Given the description of an element on the screen output the (x, y) to click on. 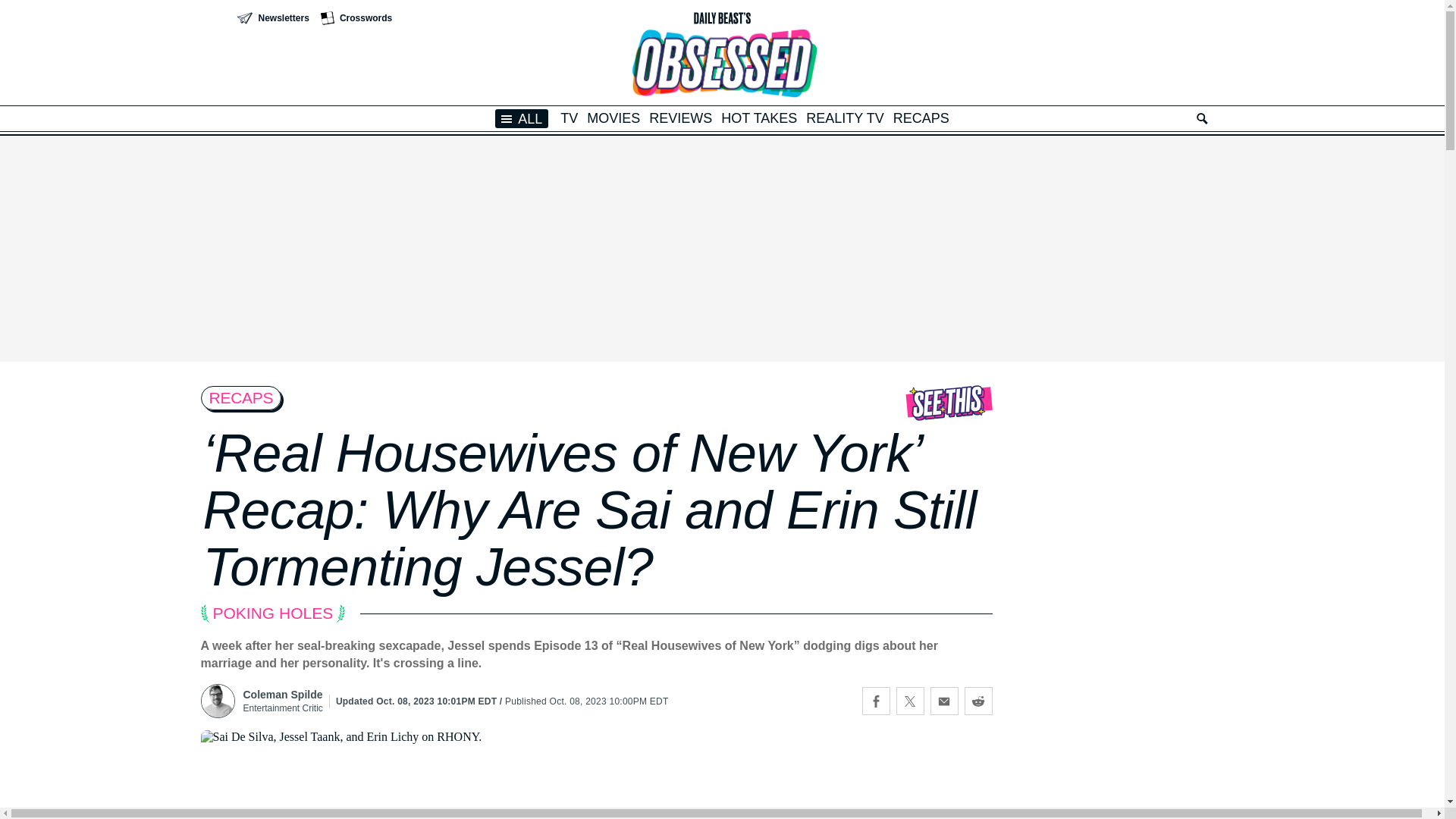
Newsletters (271, 18)
HOT TAKES (758, 118)
Coleman Spilde (282, 694)
ALL (521, 117)
REVIEWS (680, 118)
REALITY TV (844, 118)
Crosswords (356, 18)
MOVIES (613, 118)
TV (569, 118)
Entertainment Critic (282, 707)
RECAPS (921, 118)
RECAPS (240, 397)
